Given the description of an element on the screen output the (x, y) to click on. 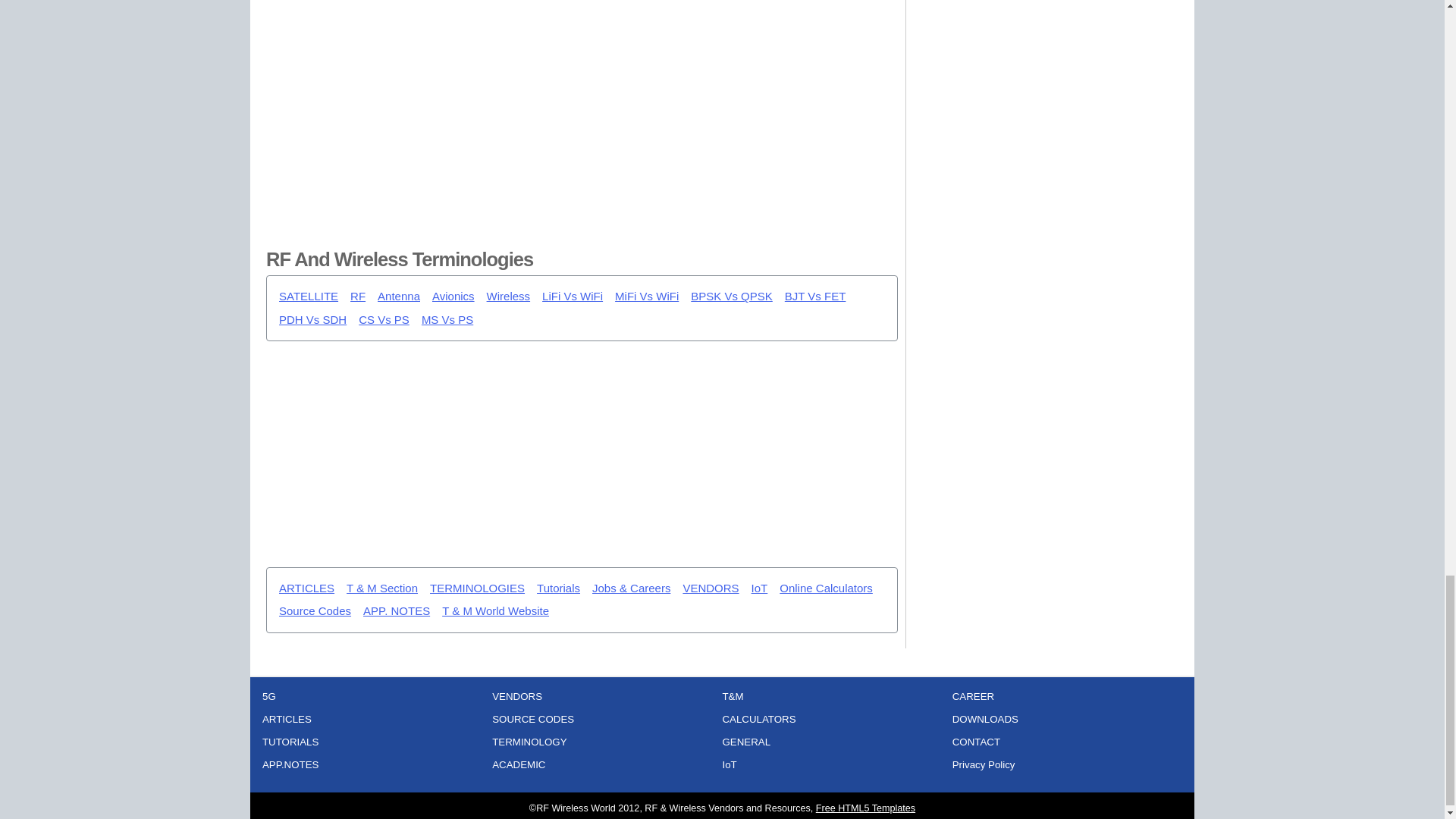
SATELLITE (308, 296)
BJT Vs FET (814, 296)
TERMINOLOGIES (476, 588)
CS Vs PS (383, 320)
Antenna (398, 296)
PDH Vs SDH (312, 320)
Avionics (453, 296)
ARTICLES (306, 588)
BPSK Vs QPSK (731, 296)
LiFi Vs WiFi (571, 296)
